Given the description of an element on the screen output the (x, y) to click on. 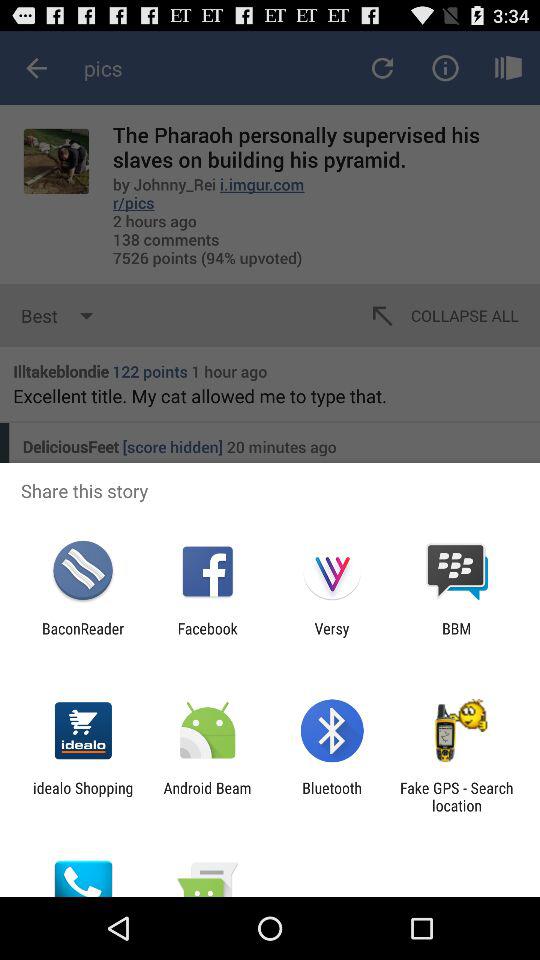
jump to facebook (207, 637)
